Given the description of an element on the screen output the (x, y) to click on. 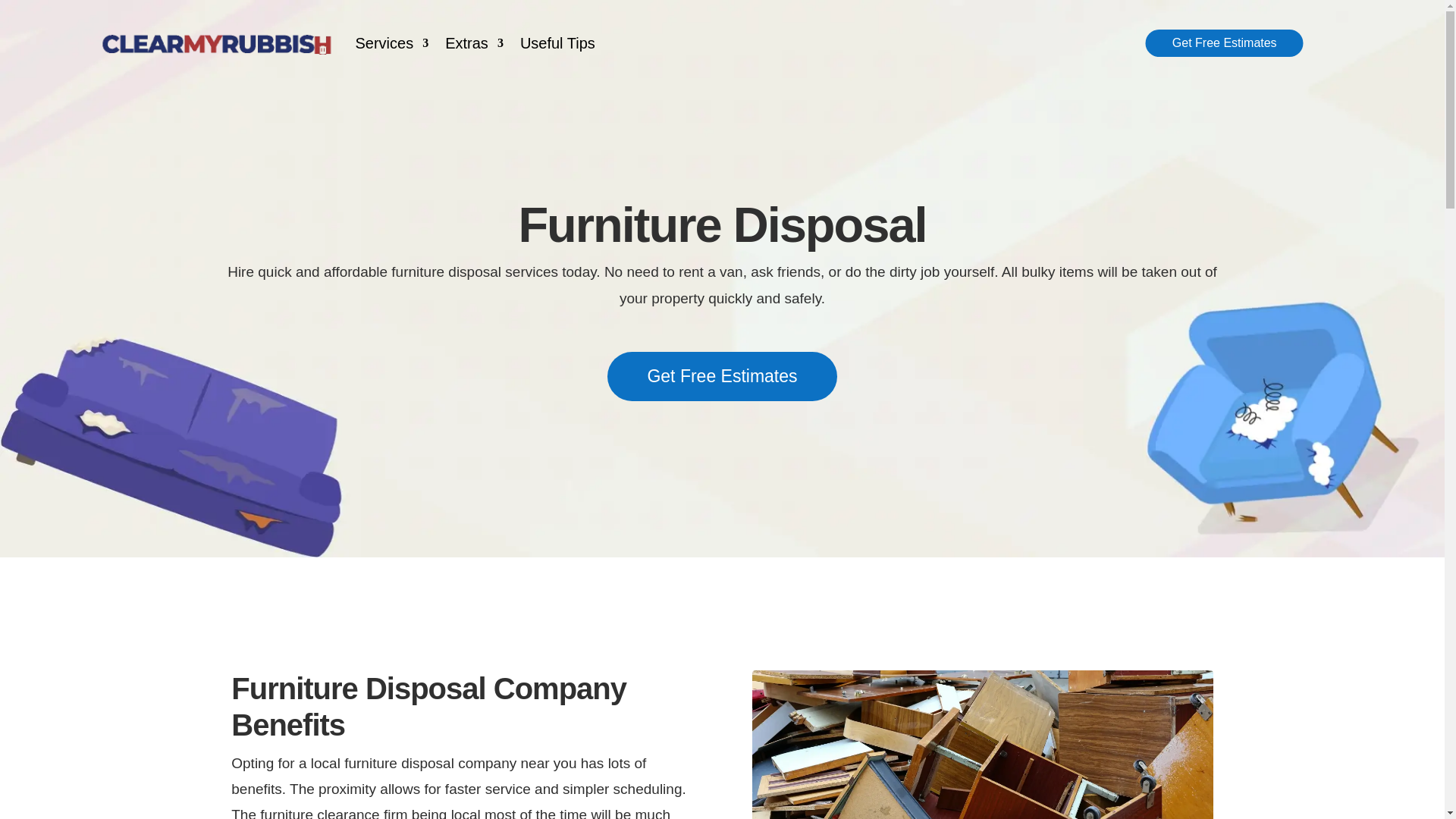
Services (391, 43)
Get Free Estimates (722, 376)
Get Free Estimates (1224, 43)
Furniture disposal (982, 744)
Useful Tips (557, 43)
Extras (474, 43)
